Given the description of an element on the screen output the (x, y) to click on. 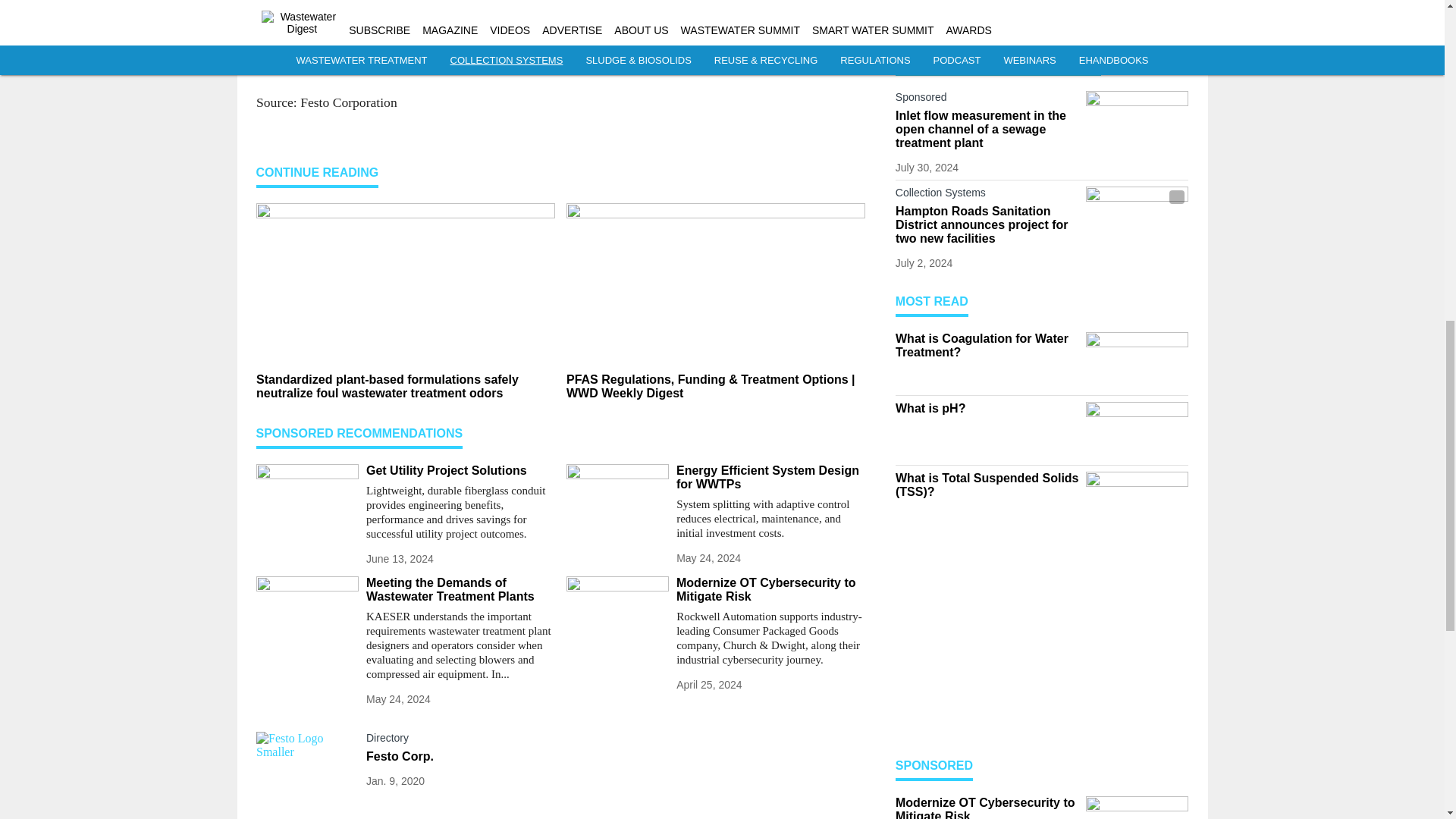
Energy Efficient System Design for WWTPs (770, 477)
Modernize OT Cybersecurity to Mitigate Risk (770, 589)
Get Utility Project Solutions (459, 470)
Festo Logo Smaller (307, 760)
Meeting the Demands of Wastewater Treatment Plants (459, 589)
